Given the description of an element on the screen output the (x, y) to click on. 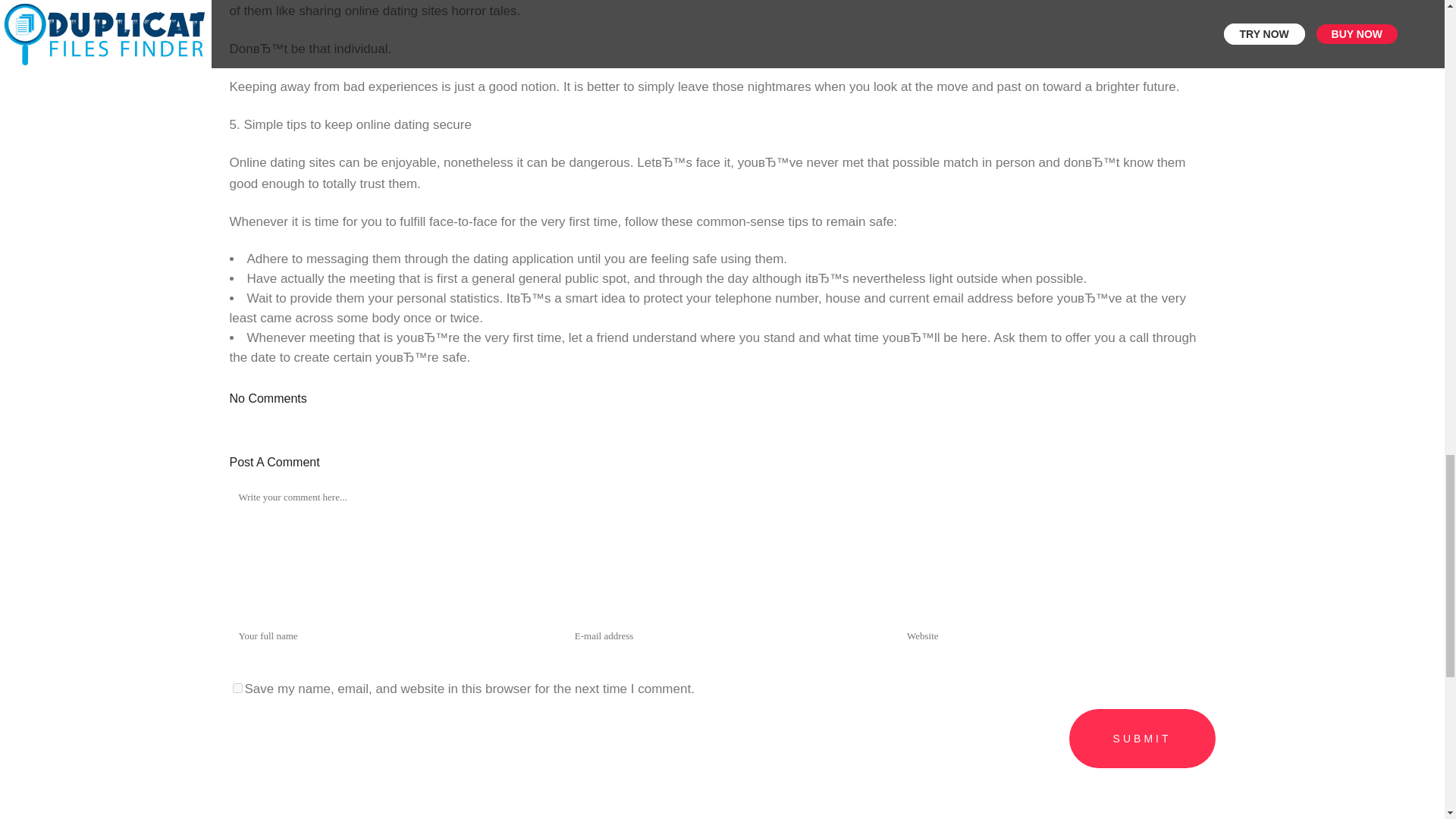
Submit (1141, 738)
yes (236, 687)
Submit (1141, 738)
